Given the description of an element on the screen output the (x, y) to click on. 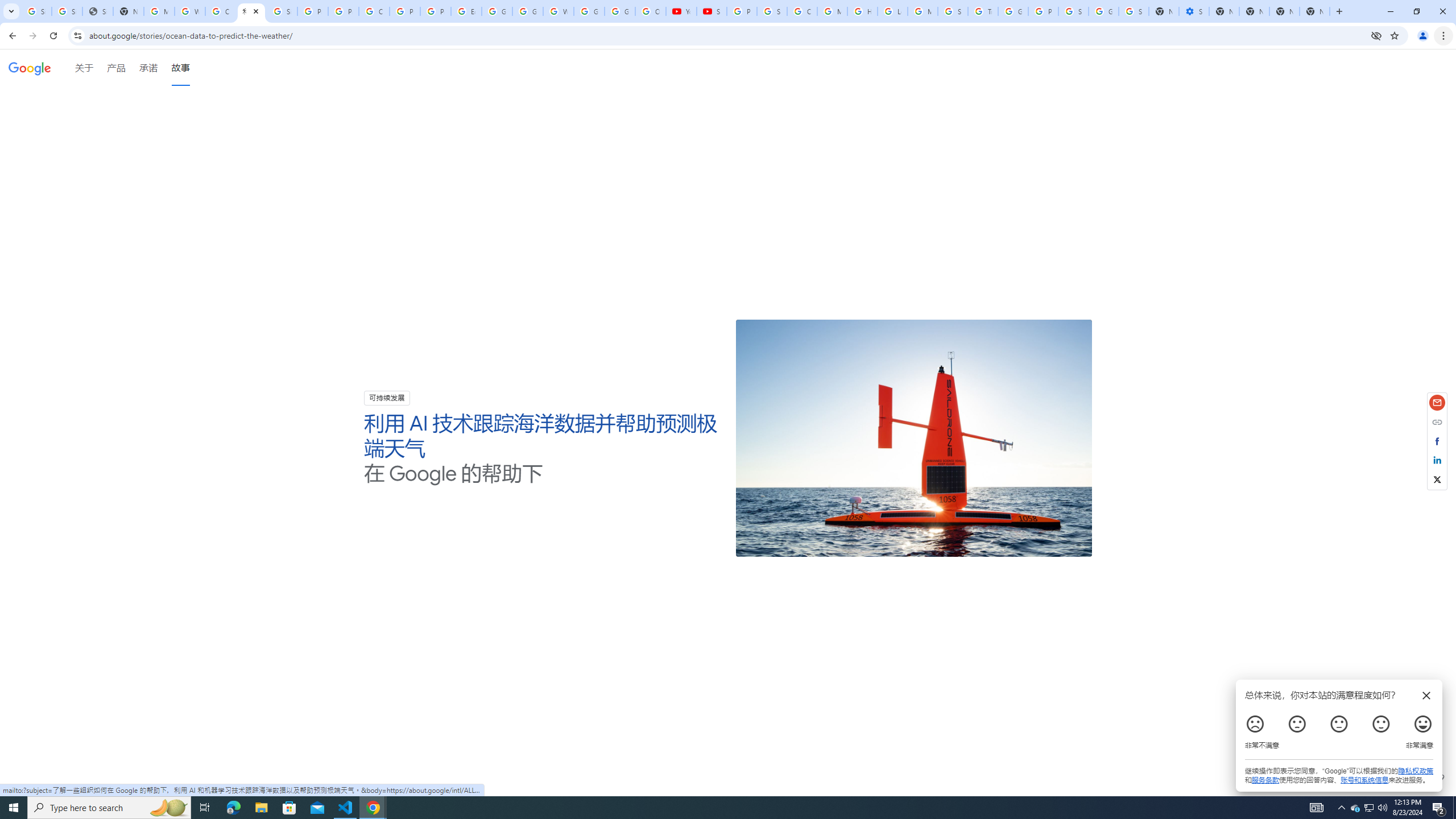
Sign in - Google Accounts (66, 11)
Sign in - Google Accounts (282, 11)
Welcome to My Activity (558, 11)
